Given the description of an element on the screen output the (x, y) to click on. 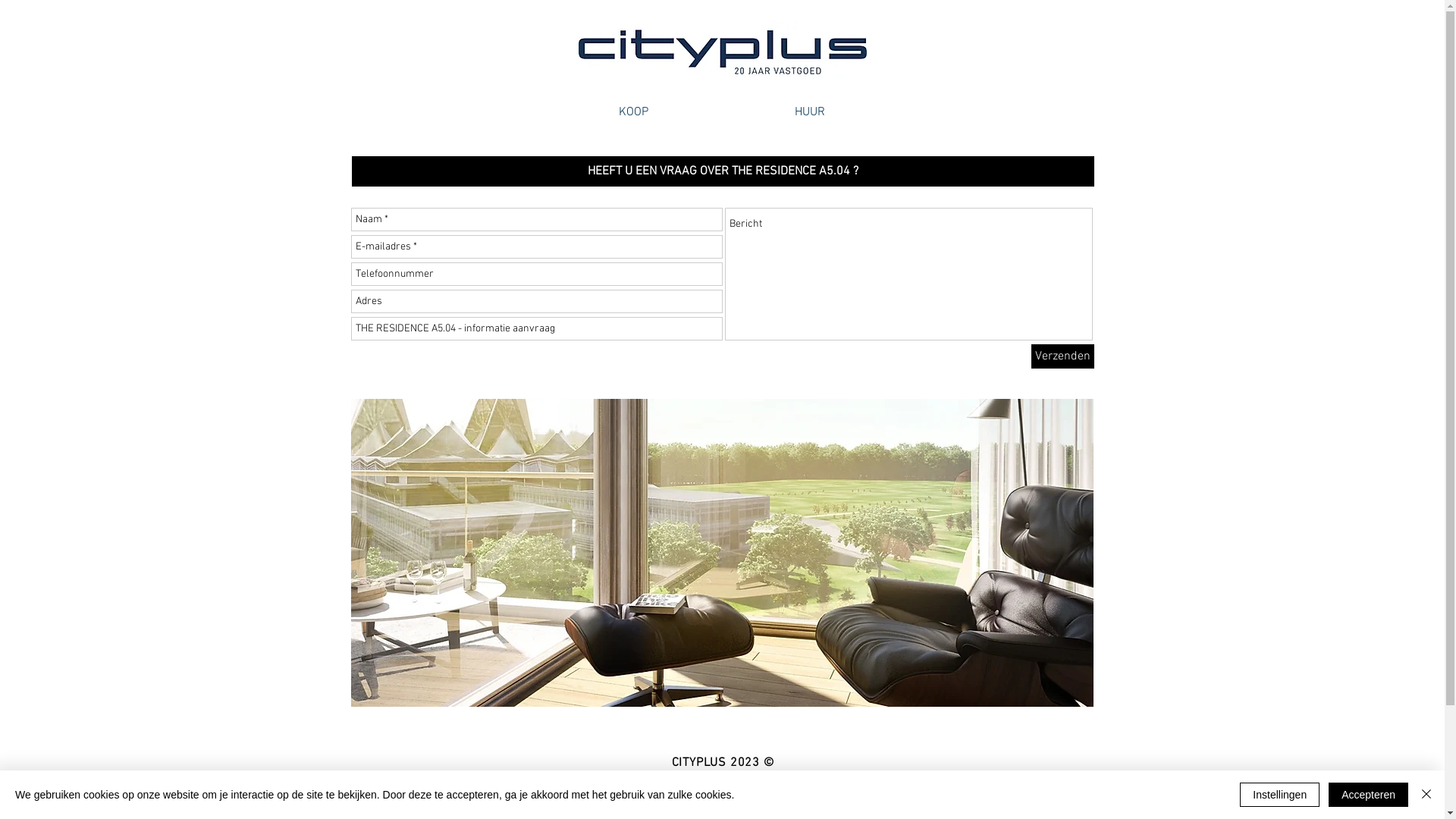
Accepteren Element type: text (1368, 794)
Instellingen Element type: text (1279, 794)
Verzenden Element type: text (1062, 356)
HUUR Element type: text (809, 111)
INFO@CITYPLUS.BE Element type: text (721, 809)
KOOP Element type: text (633, 111)
TWIPLA (Visitor Analytics) Element type: hover (1440, 3)
